Given the description of an element on the screen output the (x, y) to click on. 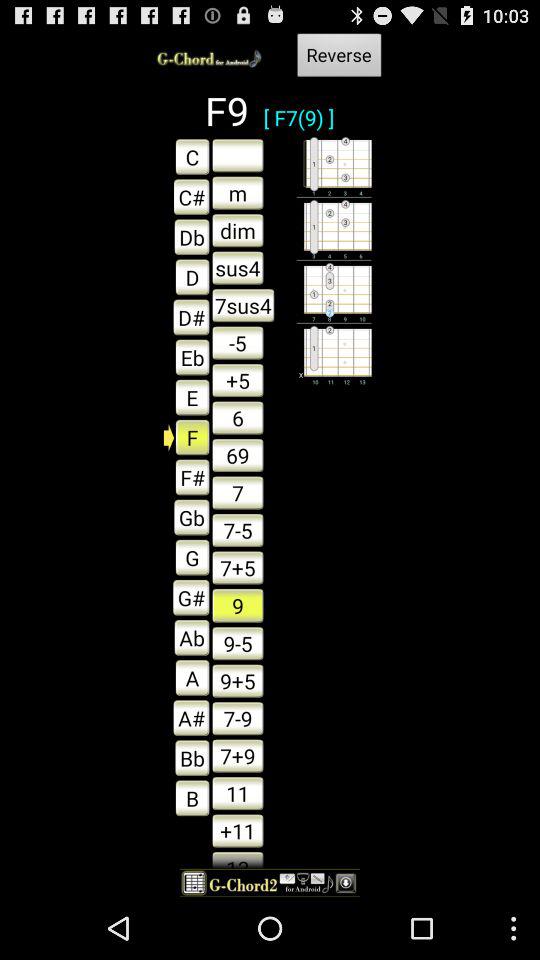
tap m (237, 192)
